Given the description of an element on the screen output the (x, y) to click on. 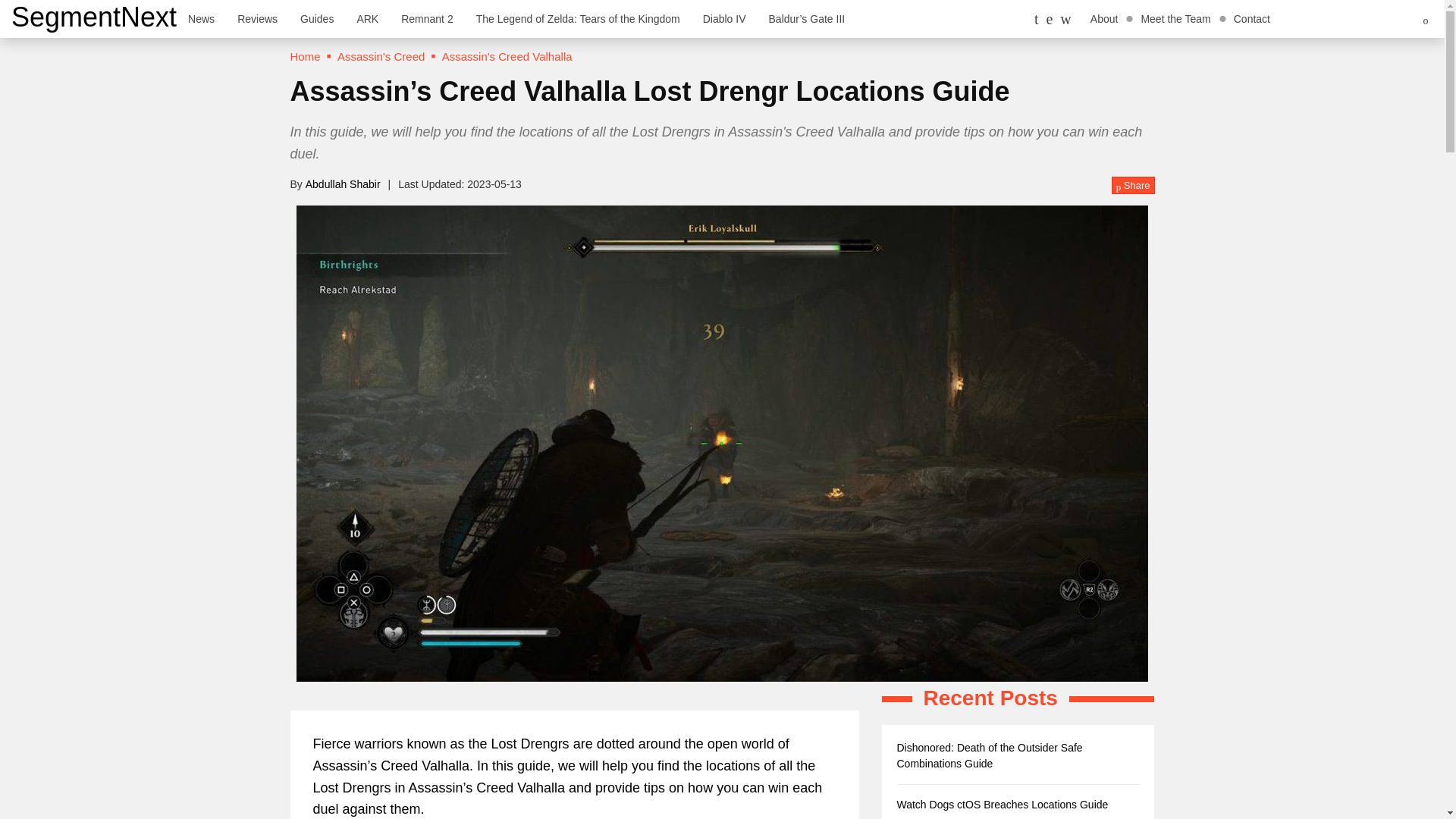
Home (304, 56)
Remnant 2 (427, 18)
Reviews (256, 18)
Reviews (256, 18)
Assassin's Creed Valhalla (507, 56)
Diablo IV (724, 18)
SegmentNext (93, 16)
Meet the Team (1175, 18)
Remnant 2 (427, 18)
Diablo IV (724, 18)
Guides (316, 18)
ARK (367, 18)
About (1103, 18)
Guides (316, 18)
Share (1133, 185)
